Given the description of an element on the screen output the (x, y) to click on. 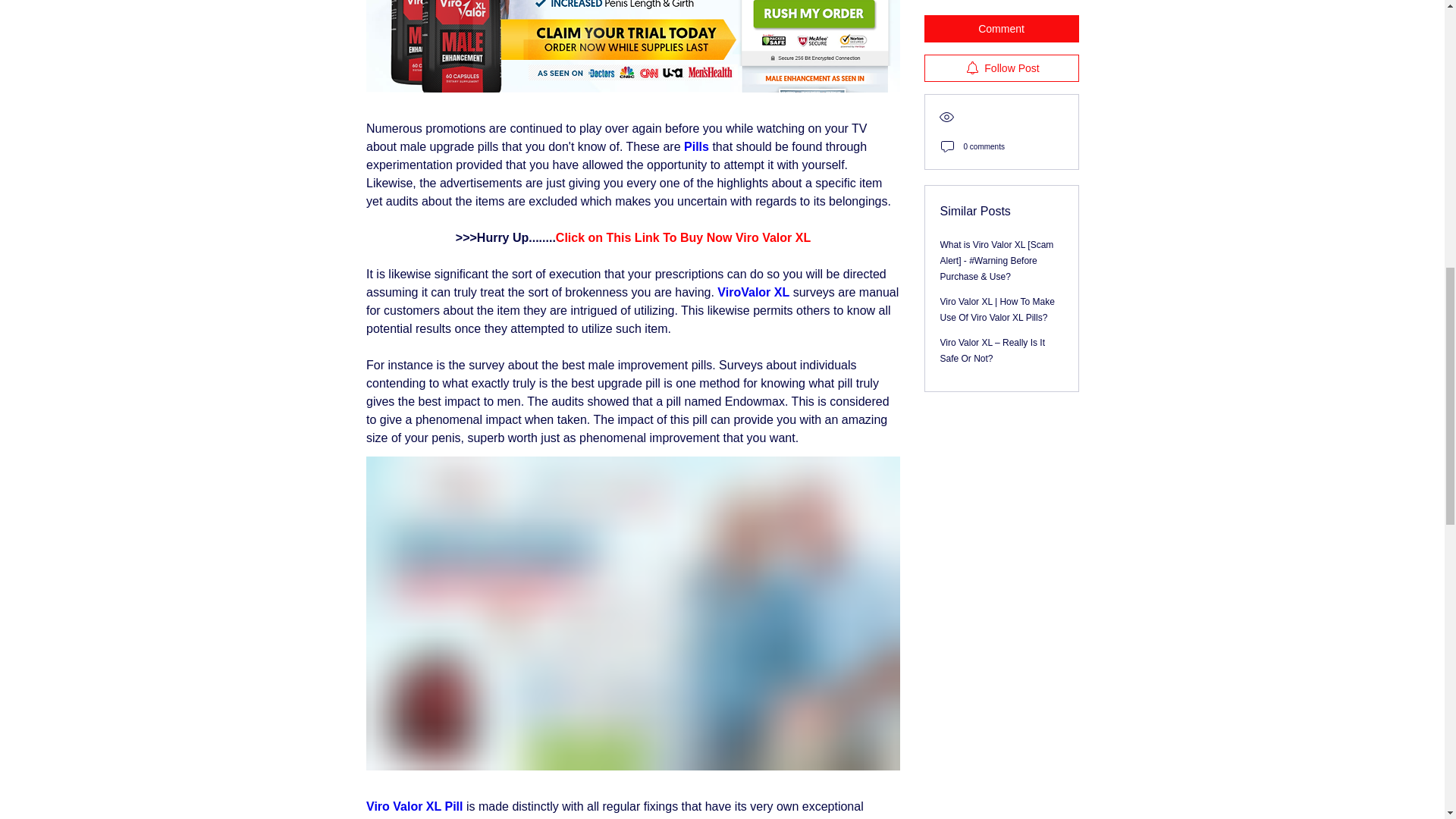
Pills (696, 146)
Click on This Link To Buy Now Viro Valor XL (681, 237)
ViroValor XL (753, 291)
Viro Valor XL Pill (413, 806)
